Given the description of an element on the screen output the (x, y) to click on. 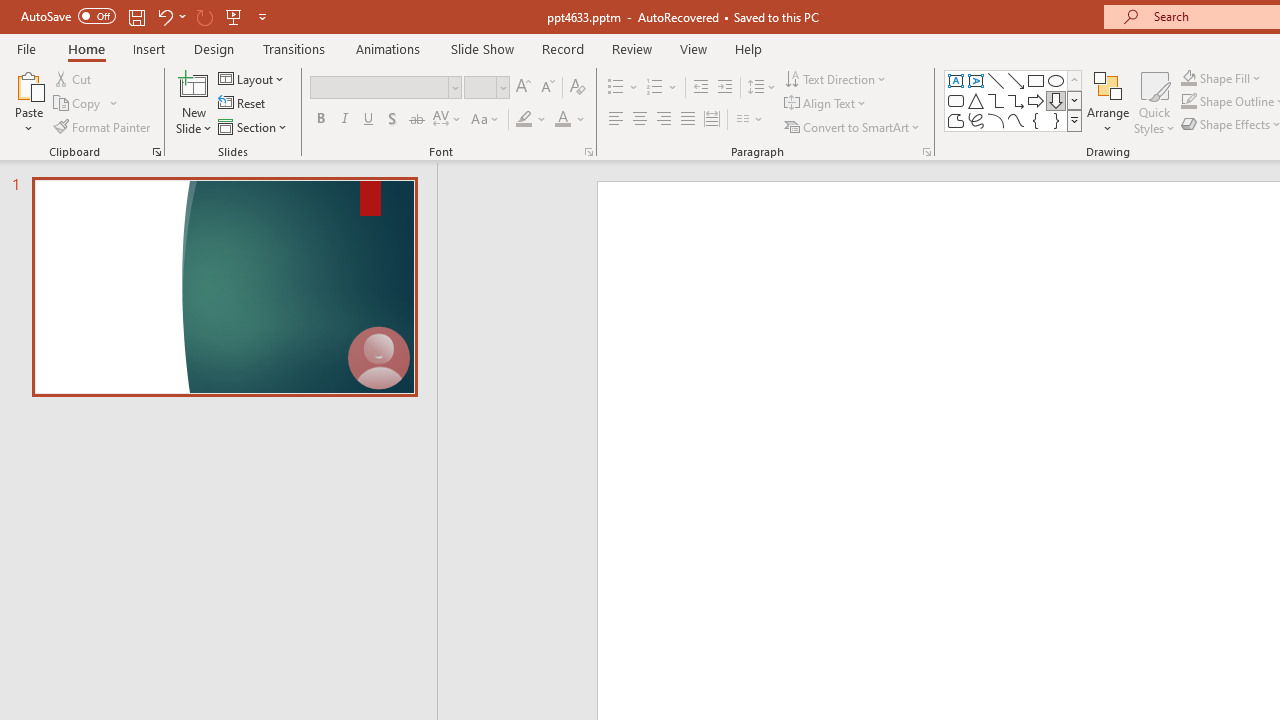
Shape Outline Dark Red, Accent 1 (1188, 101)
